Given the description of an element on the screen output the (x, y) to click on. 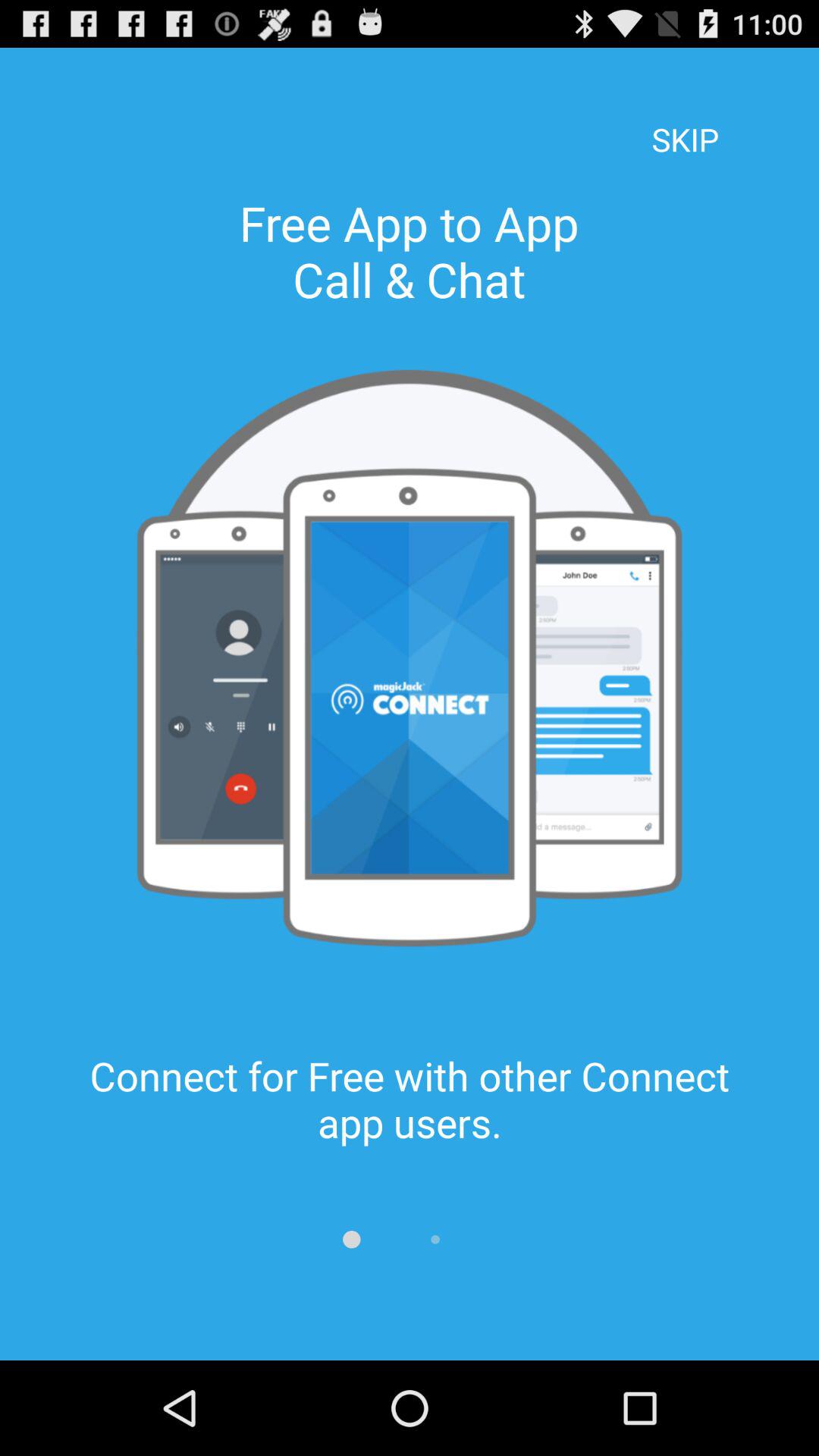
tap item to the right of free app to icon (685, 119)
